Given the description of an element on the screen output the (x, y) to click on. 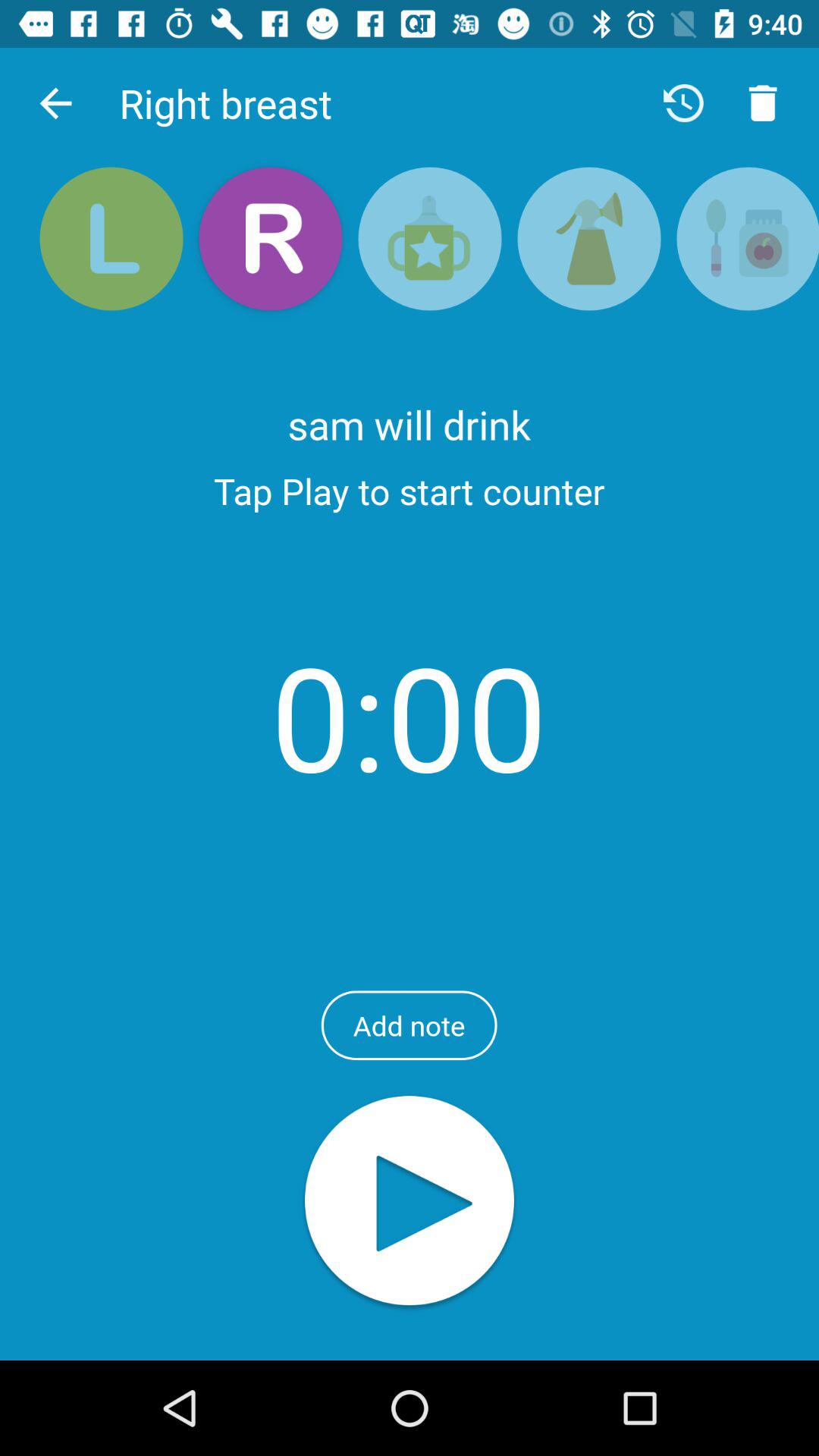
it will used to play the video (409, 1202)
